Given the description of an element on the screen output the (x, y) to click on. 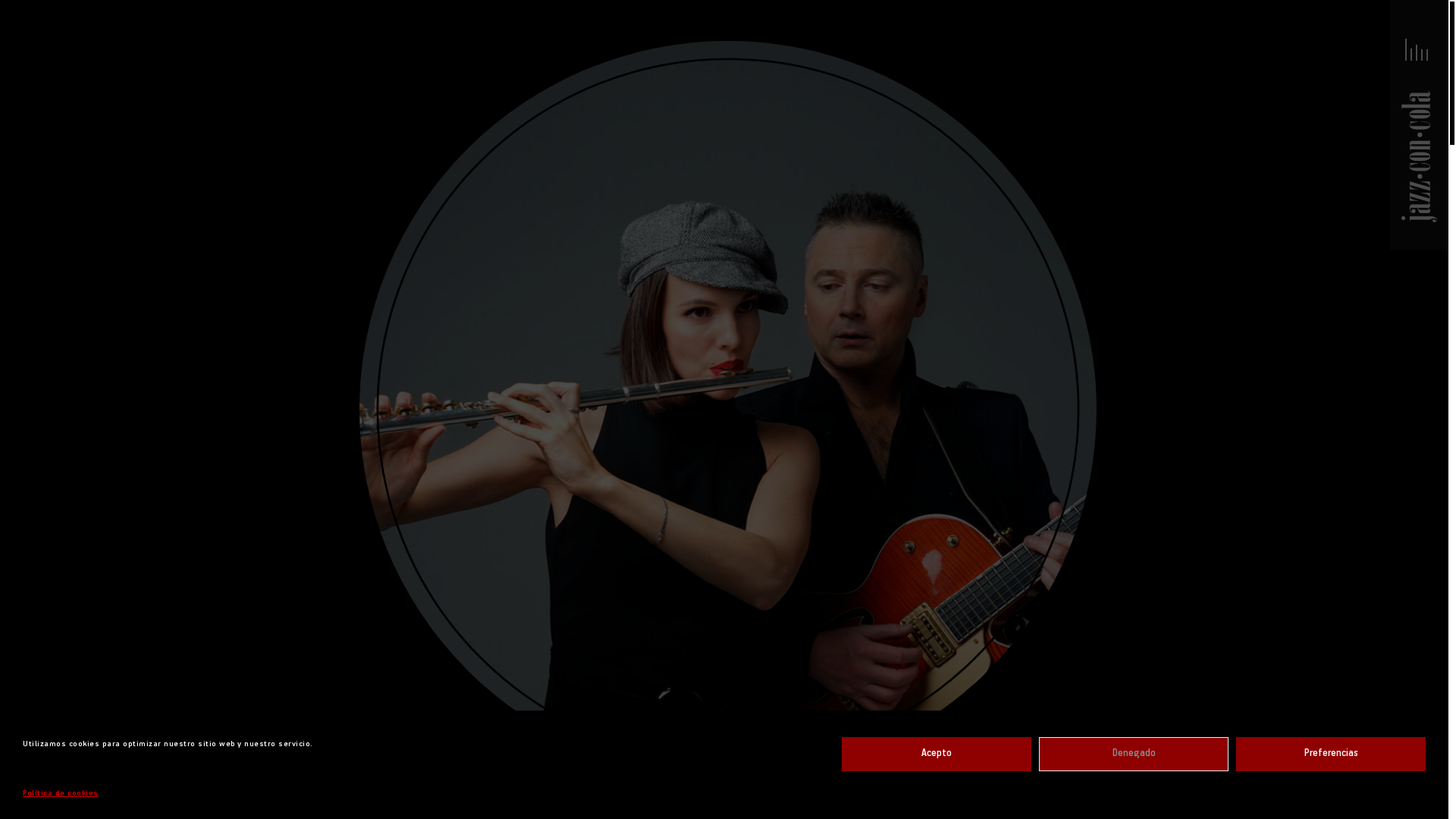
Acepto Element type: text (936, 754)
Denegado Element type: text (1133, 754)
Preferencias Element type: text (1330, 754)
